Given the description of an element on the screen output the (x, y) to click on. 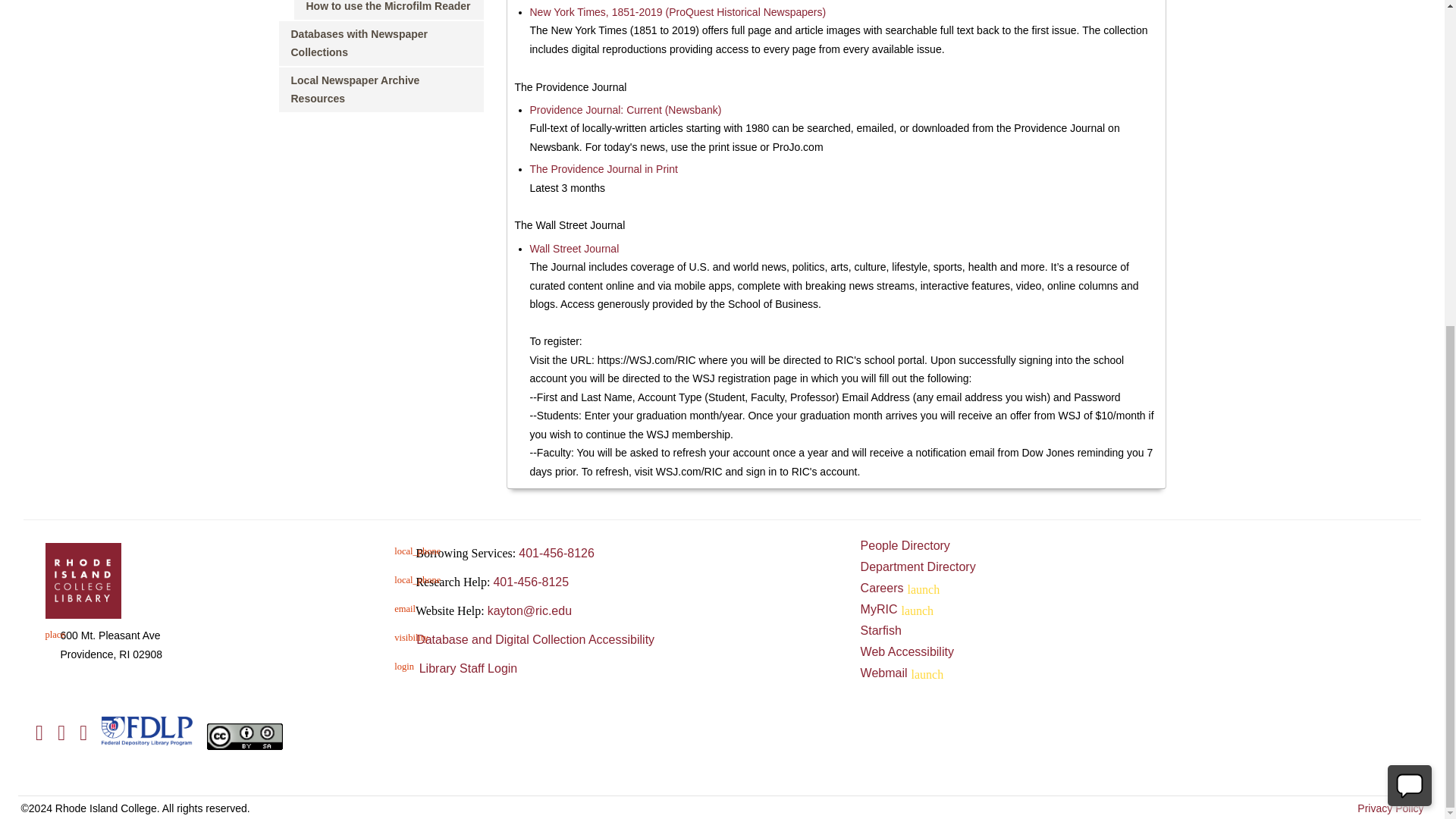
Offline (1409, 249)
